Given the description of an element on the screen output the (x, y) to click on. 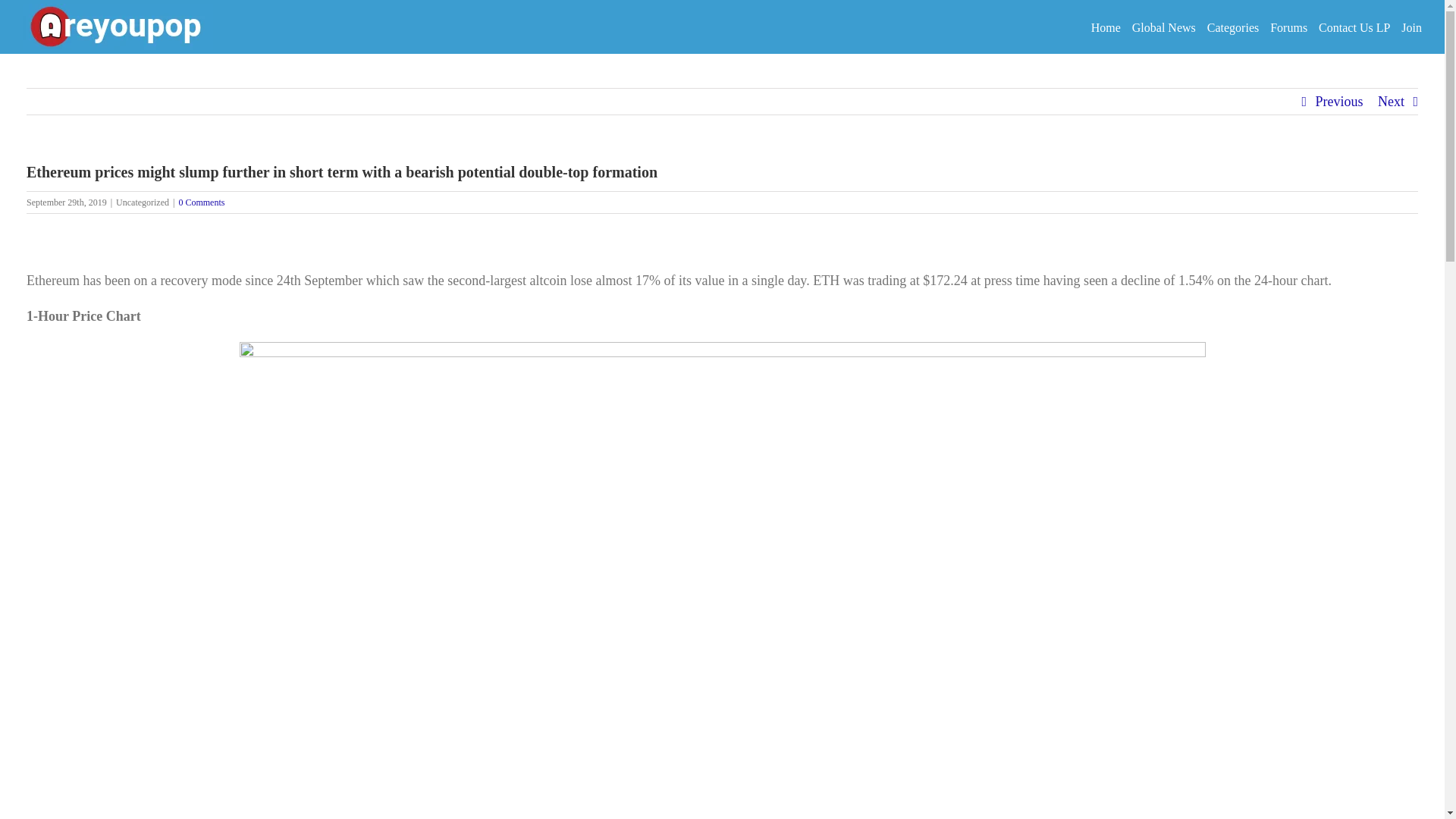
Contact Us LP (1354, 27)
Categories (1233, 27)
Next (1391, 101)
Previous (1338, 101)
Global News (1163, 27)
0 Comments (200, 202)
